Given the description of an element on the screen output the (x, y) to click on. 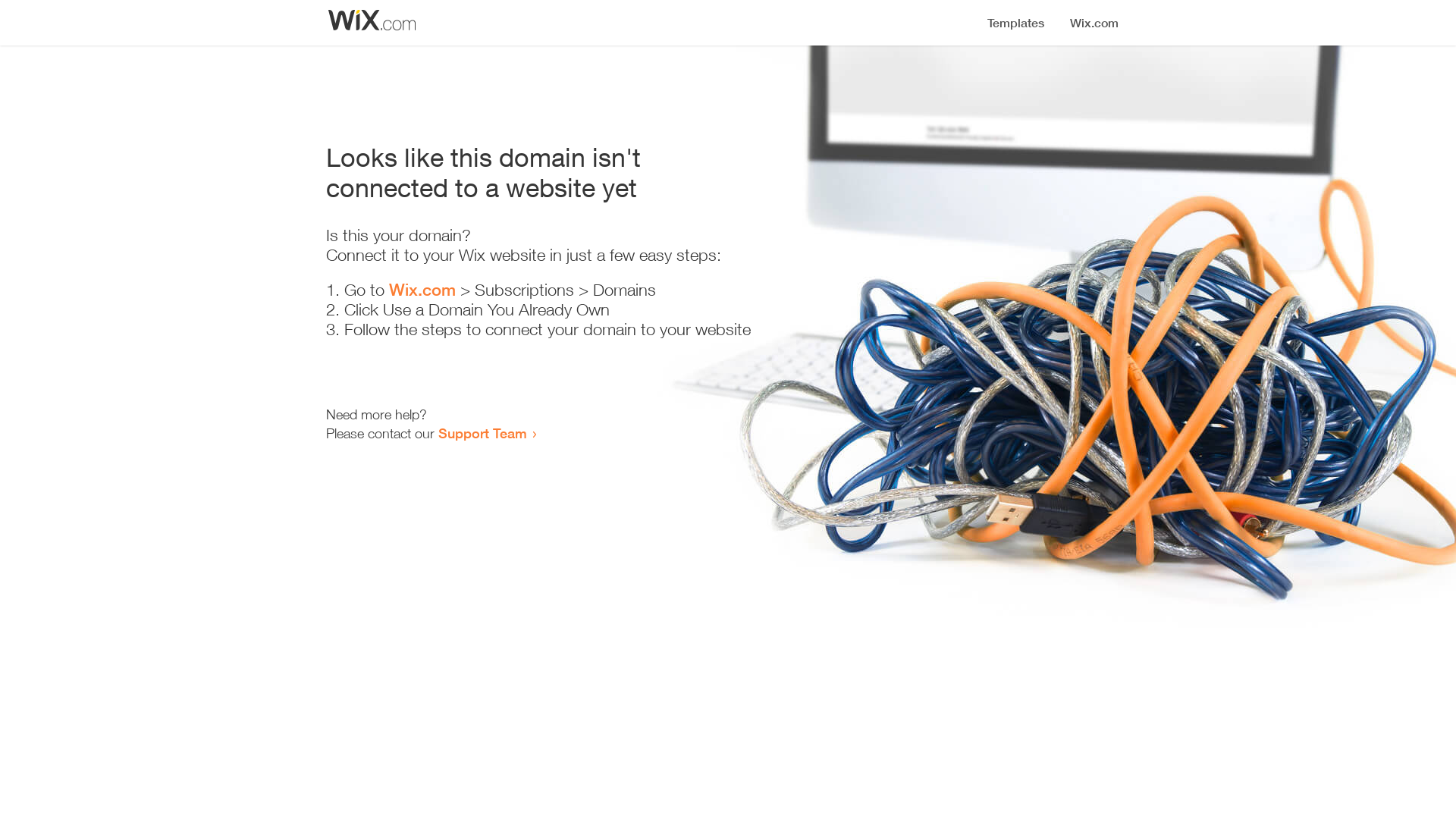
Wix.com Element type: text (422, 289)
Support Team Element type: text (482, 432)
